Given the description of an element on the screen output the (x, y) to click on. 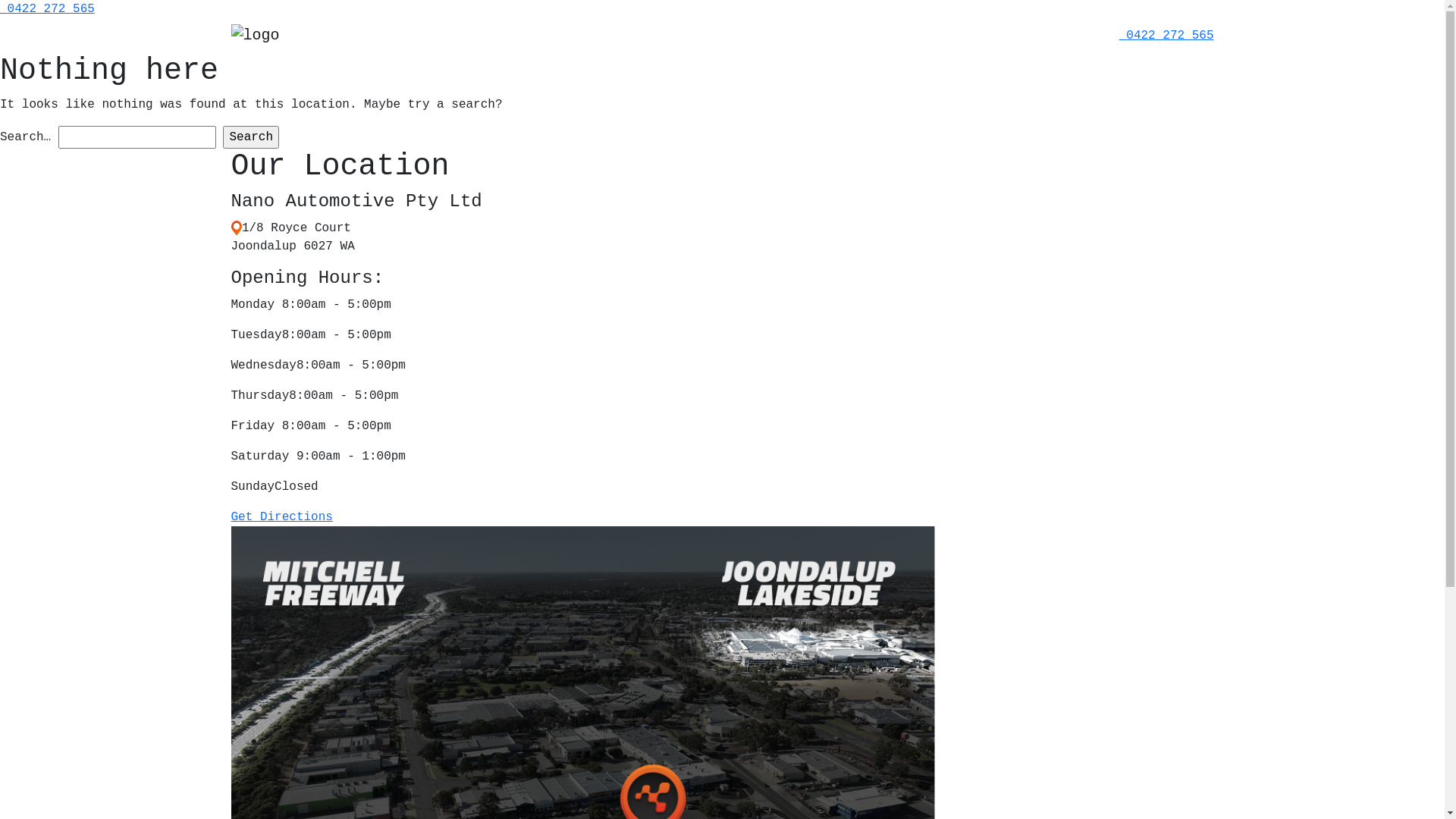
0422 272 565 Element type: text (50, 8)
0422 272 565 Element type: text (1169, 35)
Get Directions Element type: text (281, 517)
Search Element type: text (250, 136)
